Given the description of an element on the screen output the (x, y) to click on. 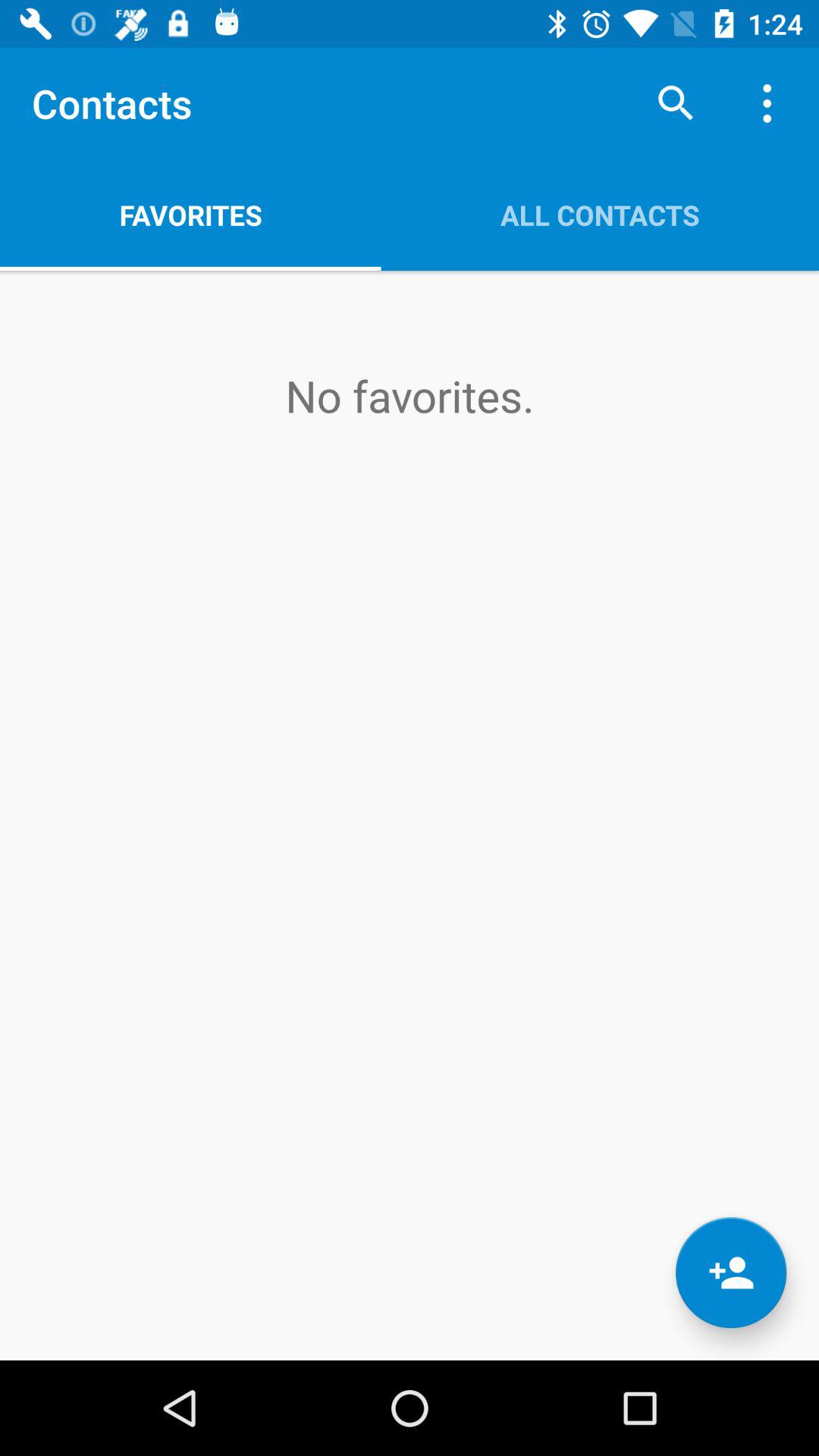
choose the icon to the right of the favorites (675, 103)
